Given the description of an element on the screen output the (x, y) to click on. 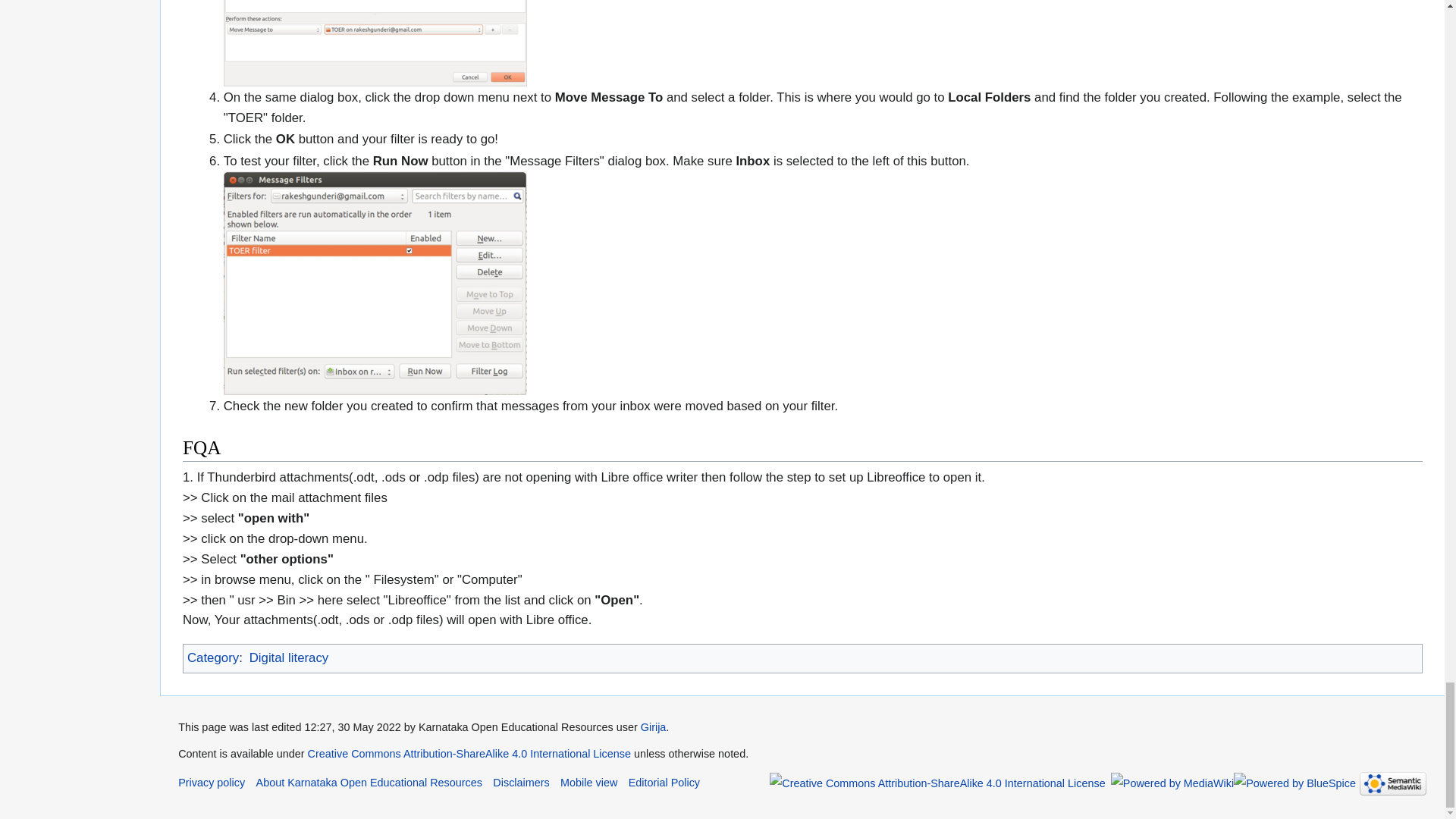
Special:Categories (212, 657)
Category:Digital literacy (288, 657)
Digital literacy (288, 657)
Category (212, 657)
User:Girija (653, 727)
